Given the description of an element on the screen output the (x, y) to click on. 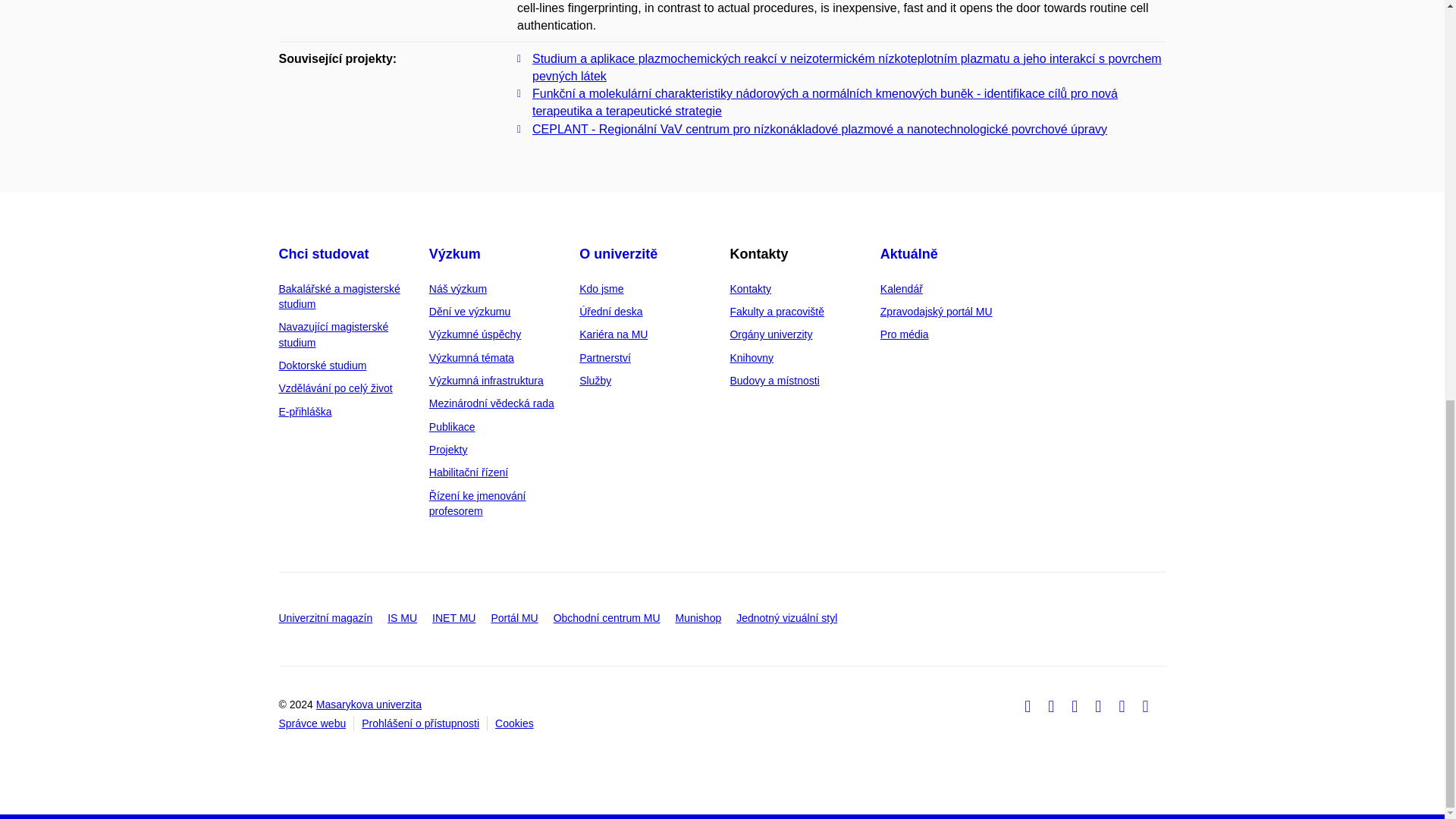
Chci studovat (324, 253)
Projekty (448, 449)
Publikace (452, 426)
